Given the description of an element on the screen output the (x, y) to click on. 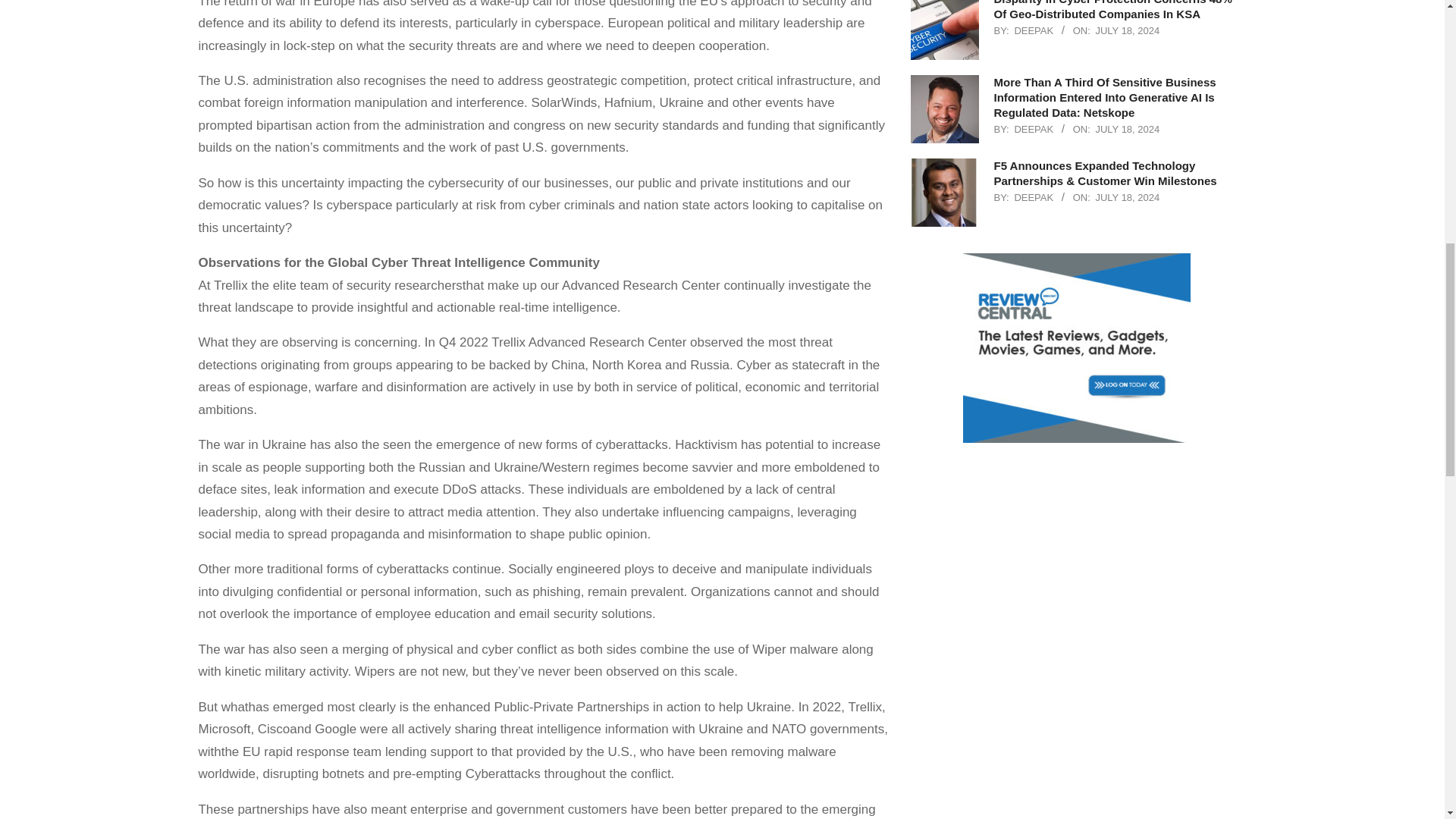
Thursday, July 18, 2024, 11:42 am (1126, 129)
Posts by Deepak (1032, 197)
Posts by Deepak (1032, 129)
Posts by Deepak (1032, 30)
Thursday, July 18, 2024, 10:58 am (1126, 197)
Thursday, July 18, 2024, 3:24 pm (1126, 30)
